Given the description of an element on the screen output the (x, y) to click on. 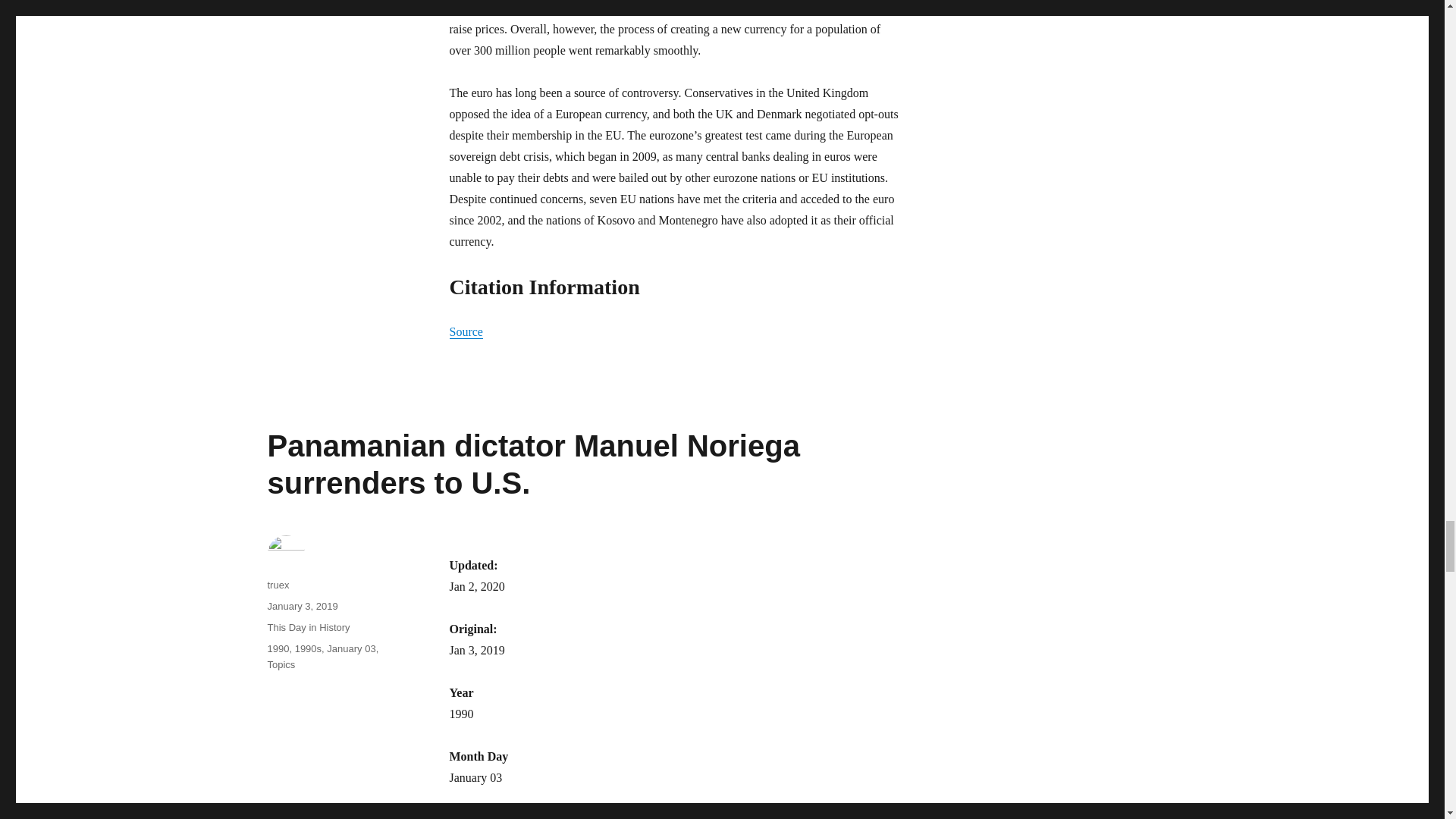
2020-01-02T16:34:44Z (475, 585)
2019-01-03T14:55:16Z (475, 649)
